Given the description of an element on the screen output the (x, y) to click on. 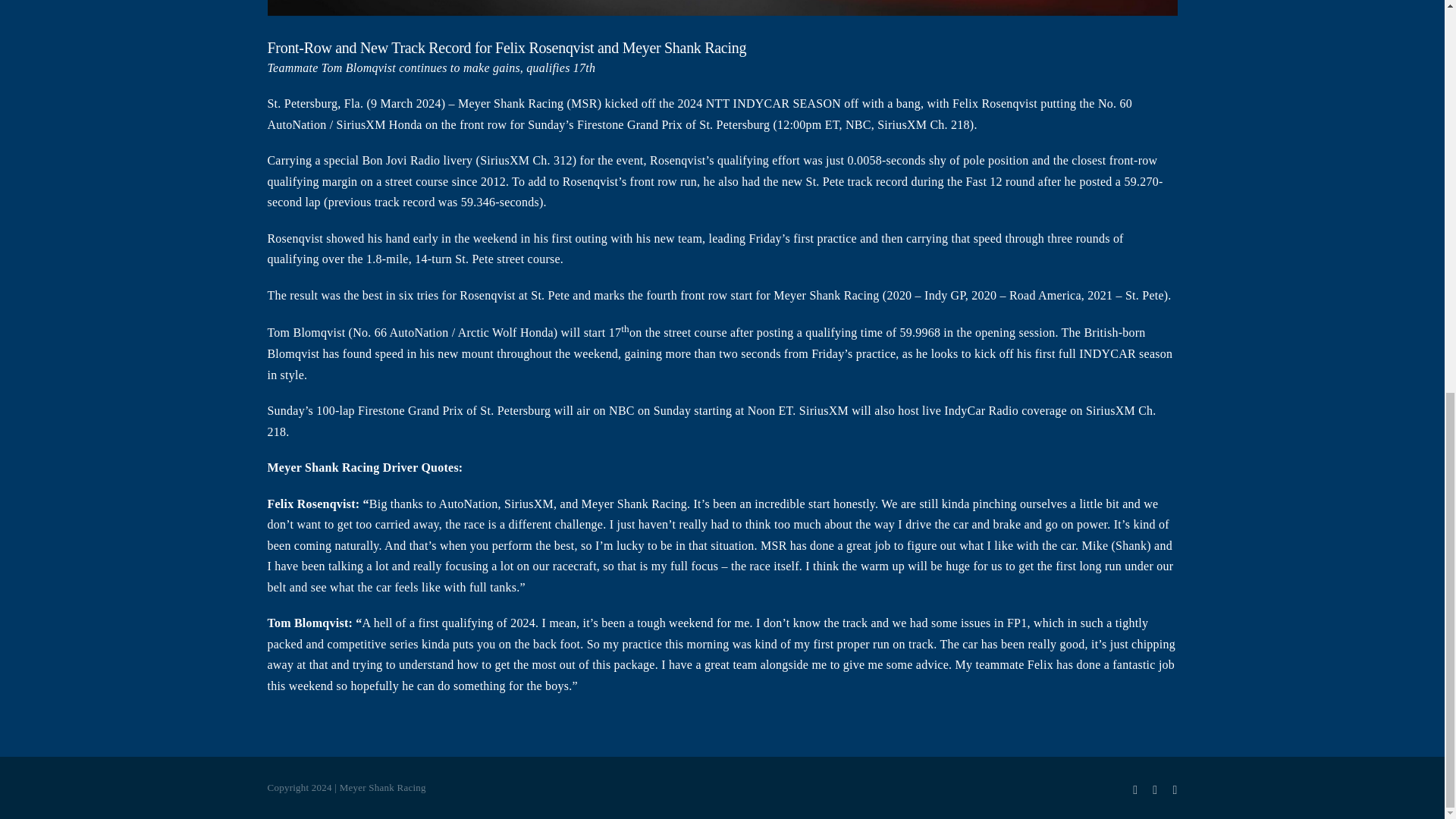
Instagram (1174, 789)
Facebook (1134, 789)
Instagram (1174, 789)
X (1155, 789)
X (1155, 789)
Facebook (1134, 789)
